Given the description of an element on the screen output the (x, y) to click on. 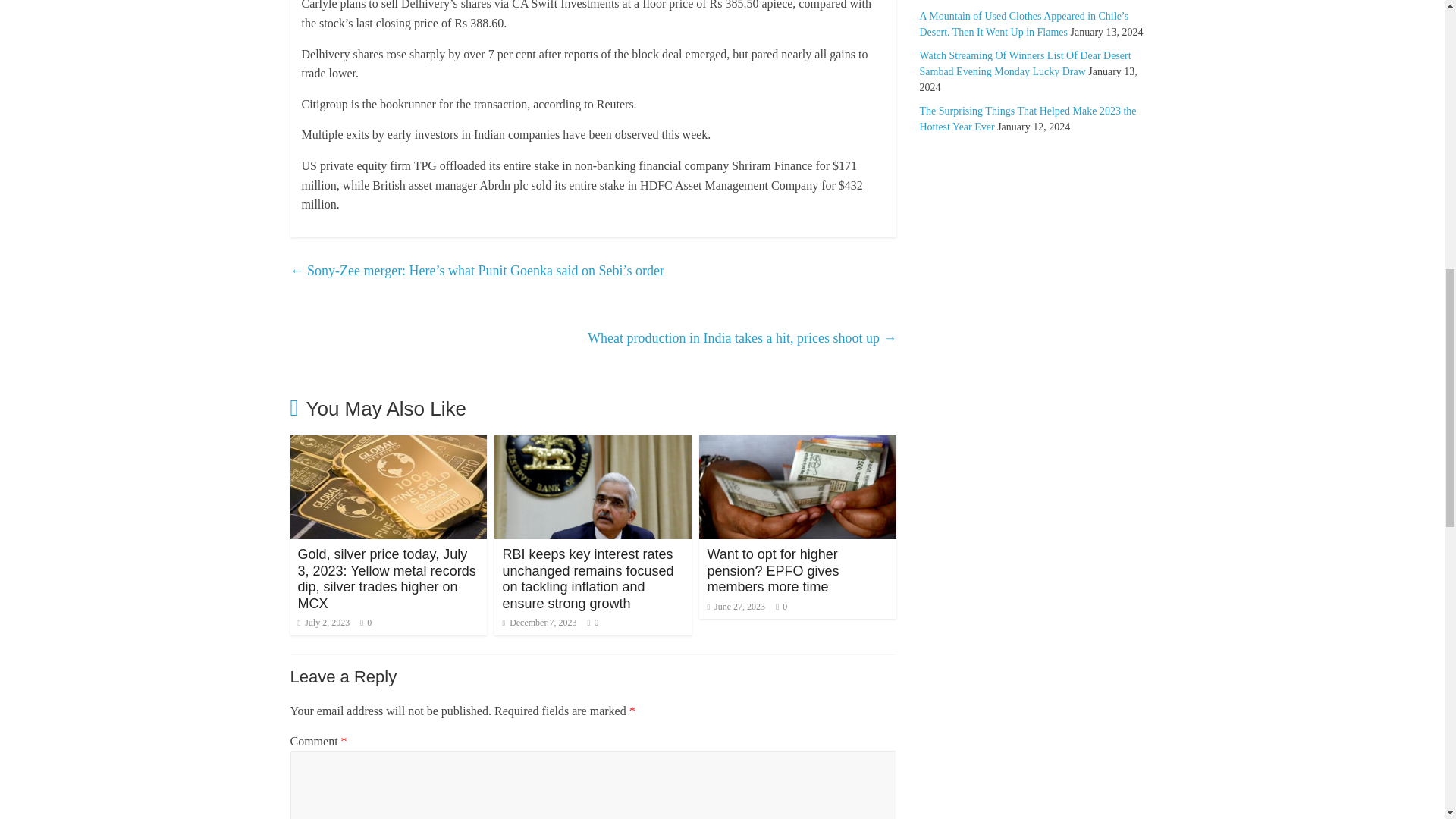
June 27, 2023 (735, 606)
July 2, 2023 (323, 622)
Want to opt for higher pension? EPFO gives members more time (772, 570)
December 7, 2023 (539, 622)
